Given the description of an element on the screen output the (x, y) to click on. 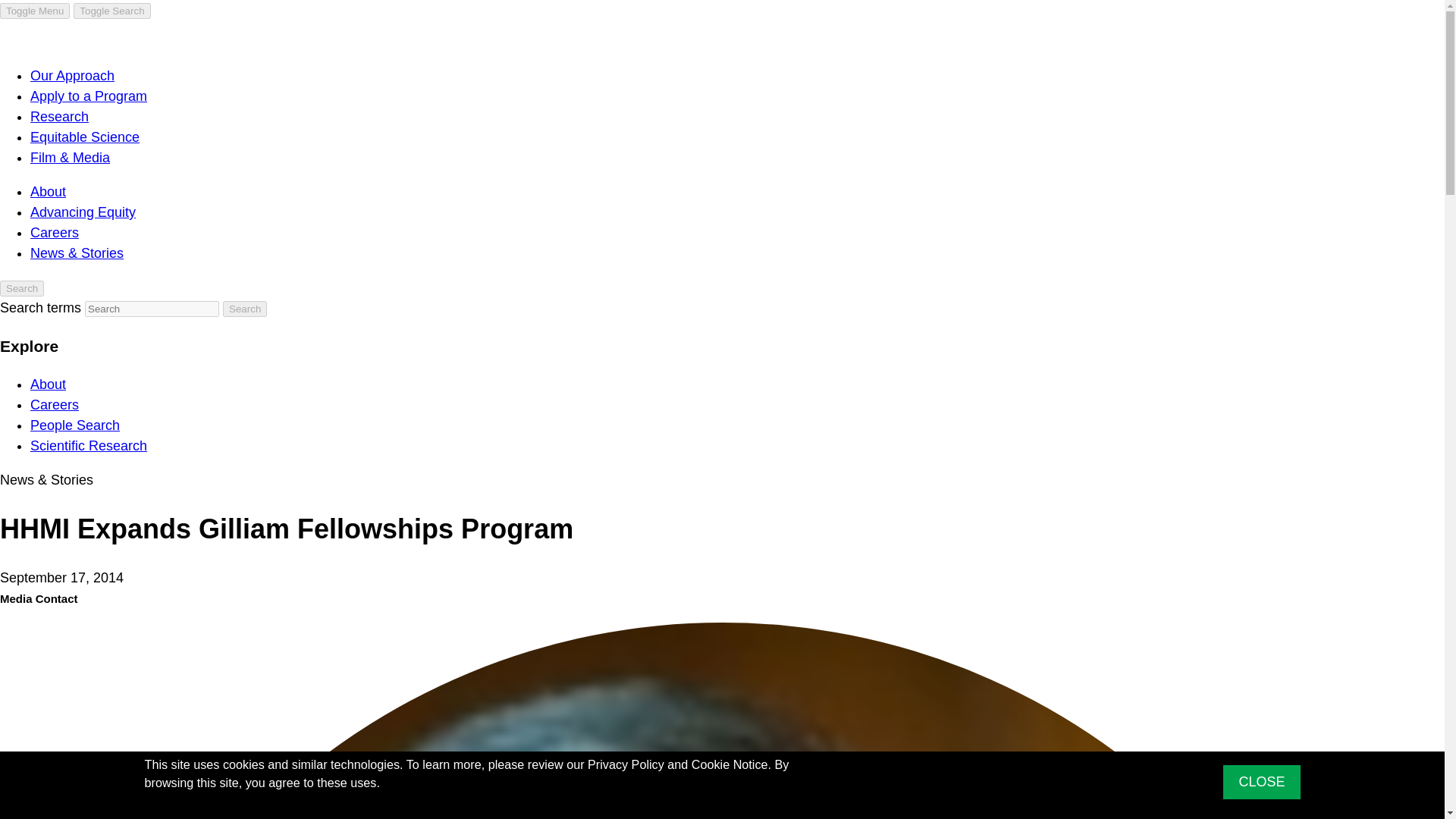
Privacy Policy and Cookie Notice (678, 764)
CLOSE (1261, 781)
